Given the description of an element on the screen output the (x, y) to click on. 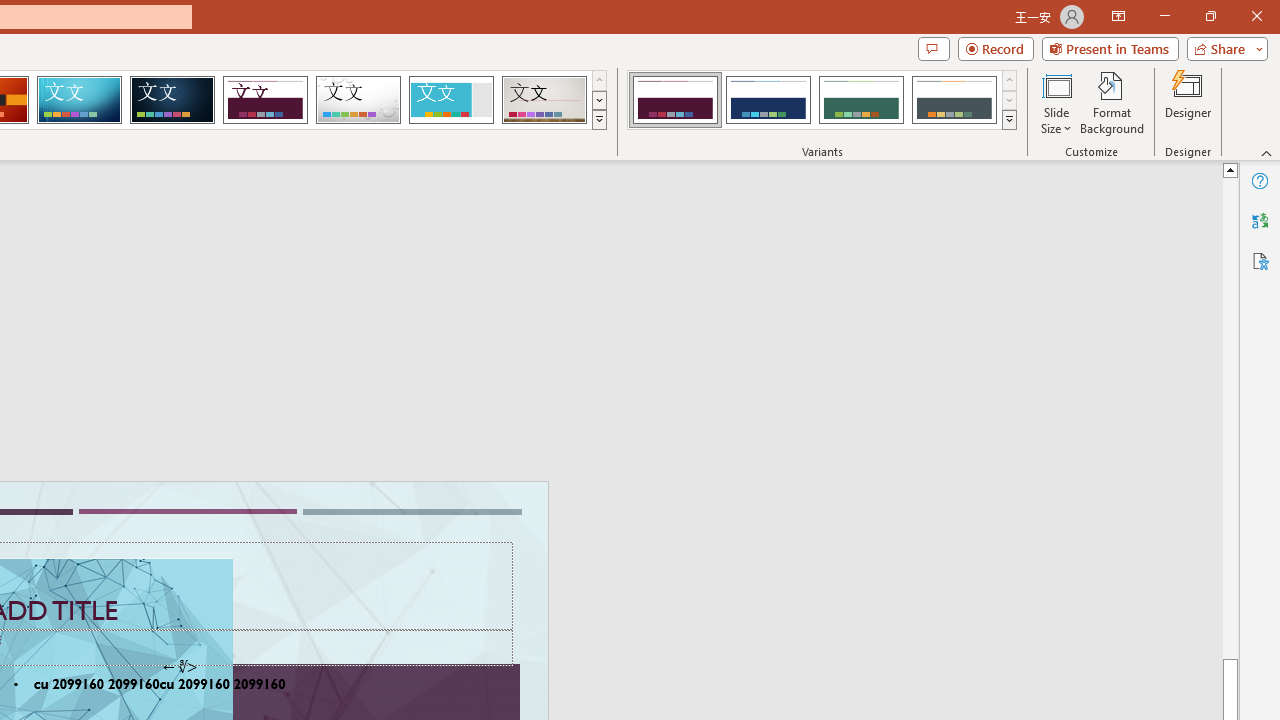
Frame (450, 100)
Dividend (265, 100)
Dividend Variant 2 (768, 100)
Dividend Variant 3 (861, 100)
TextBox 7 (179, 667)
AutomationID: ThemeVariantsGallery (822, 99)
